Given the description of an element on the screen output the (x, y) to click on. 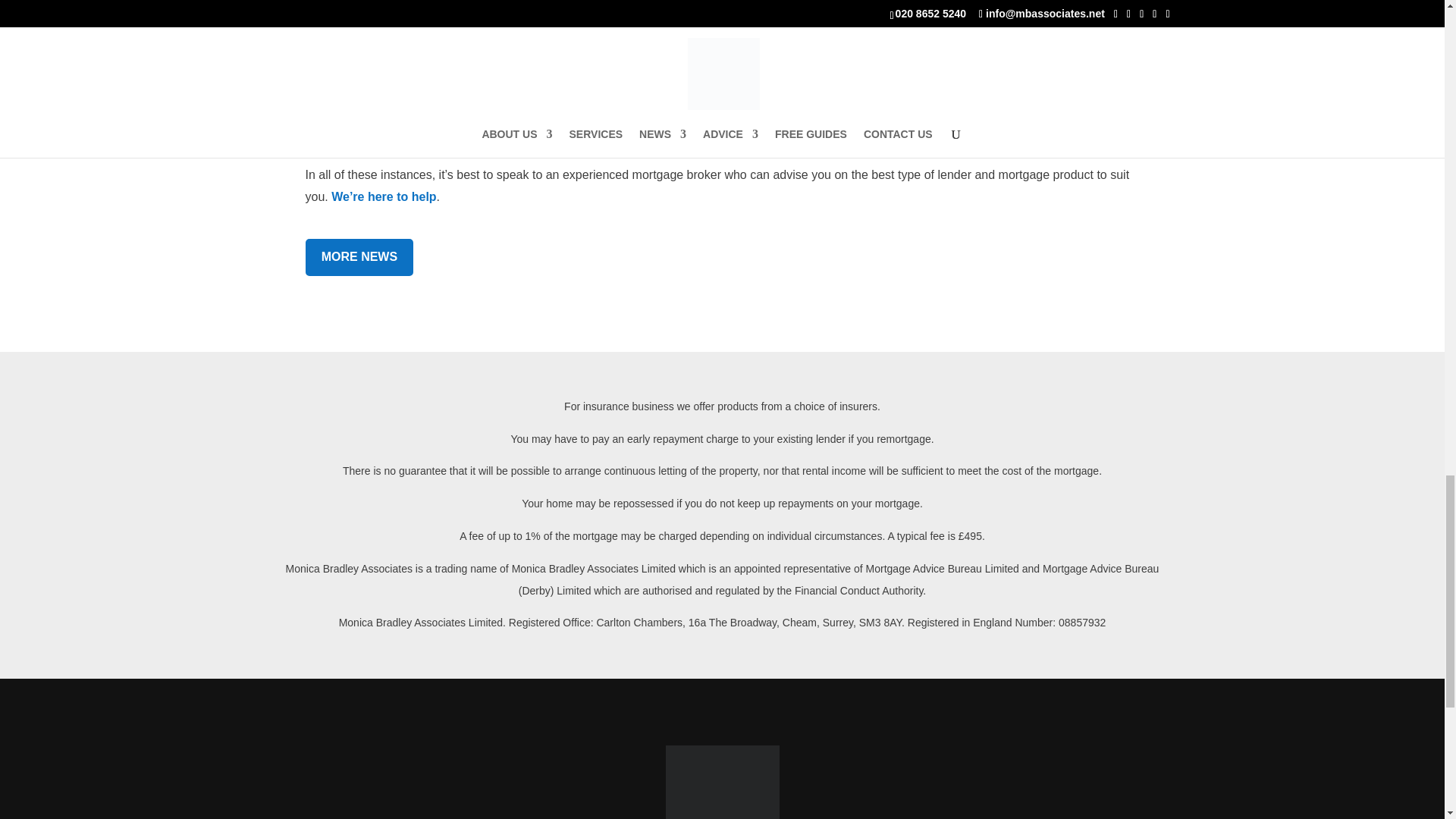
credit report (876, 119)
MORE NEWS (358, 257)
